Given the description of an element on the screen output the (x, y) to click on. 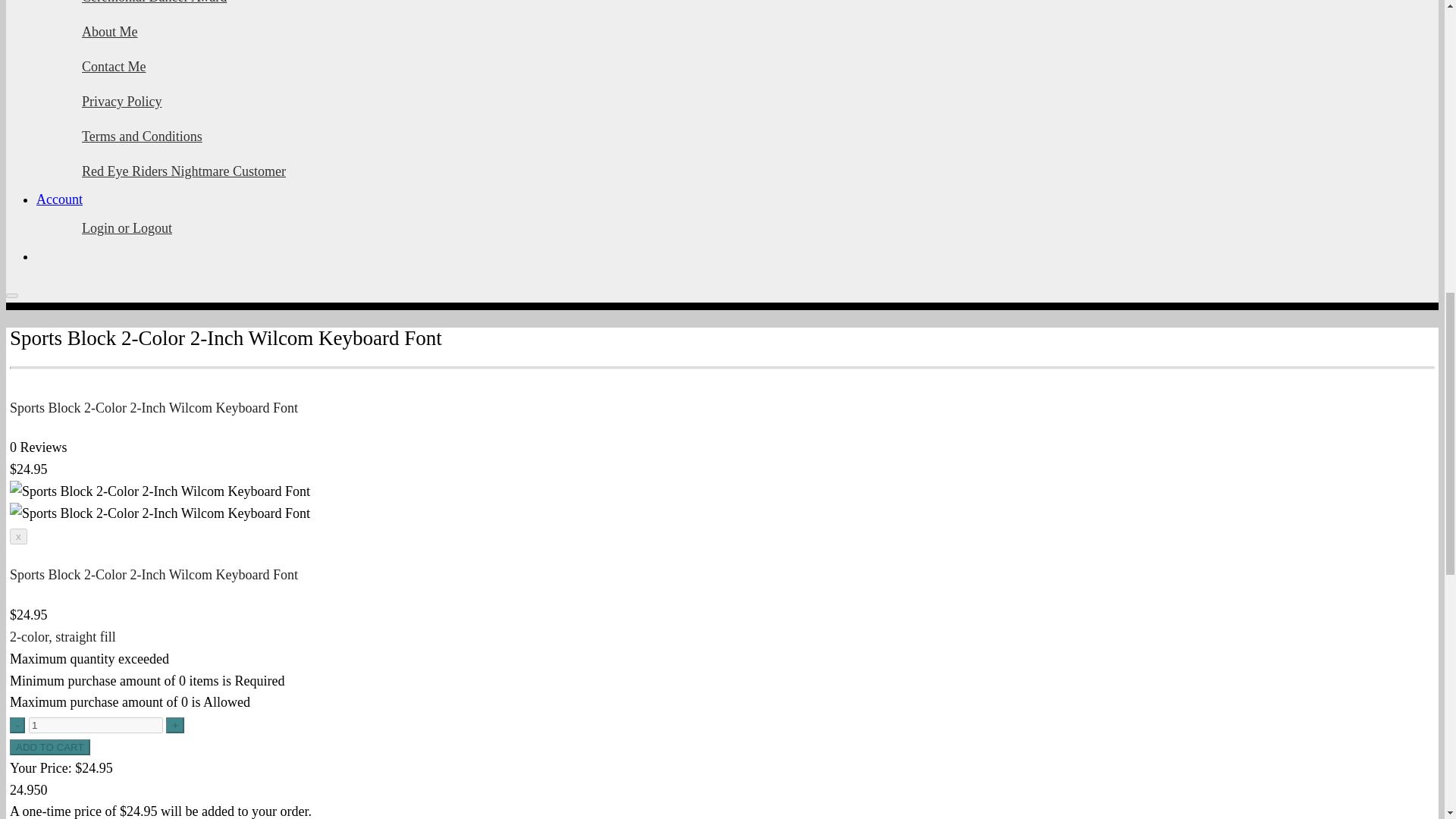
Open the menu (11, 295)
x (18, 536)
Account (59, 199)
ADD TO CART (50, 747)
ADD TO CART (50, 747)
1 (96, 725)
- (17, 725)
